Given the description of an element on the screen output the (x, y) to click on. 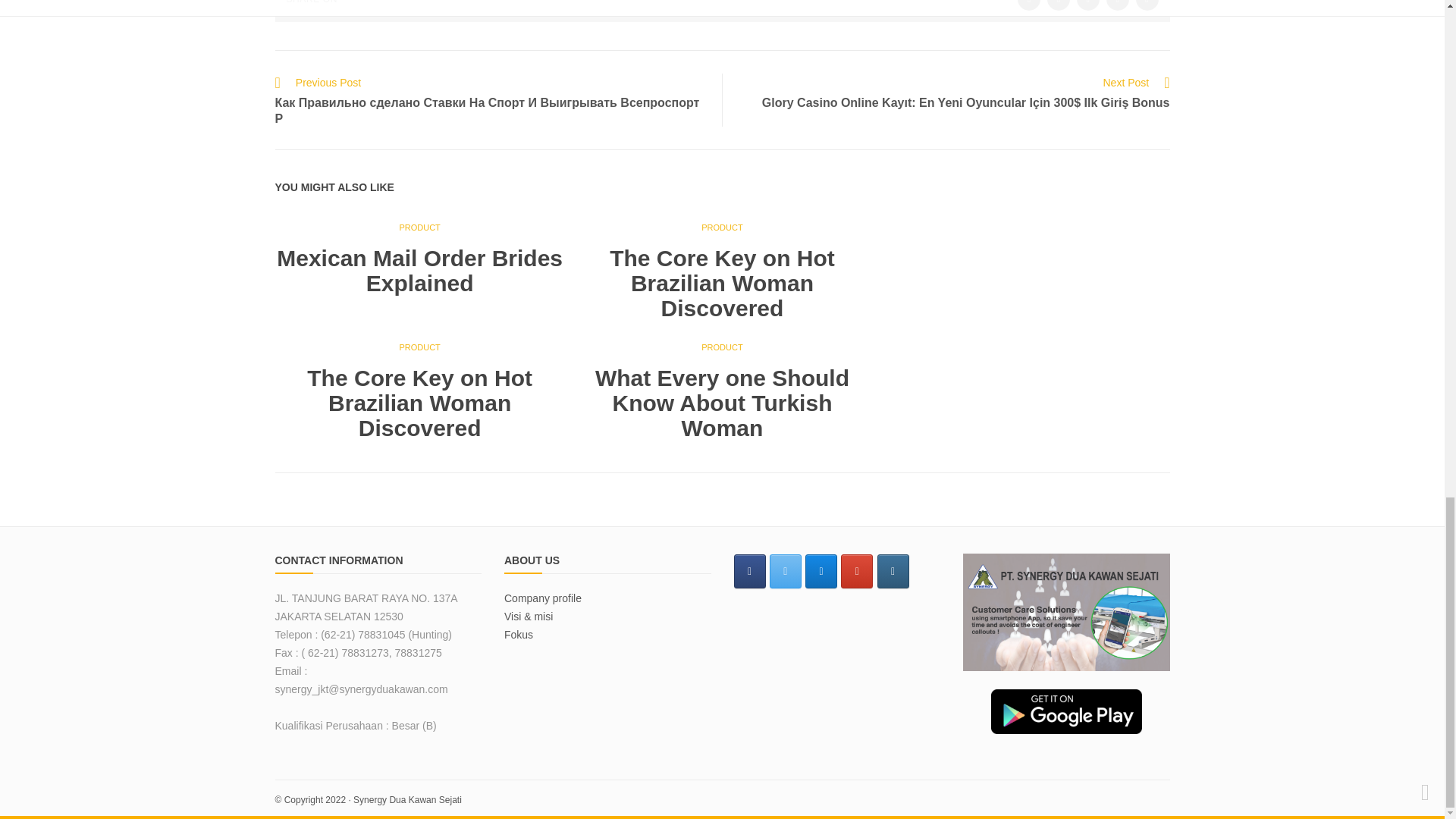
Synergy Dua Kawan Sejati on Instagram (892, 571)
Twitter (1029, 5)
Synergy Dua Kawan Sejati on Twitter (786, 571)
Facebook (1058, 5)
Synergy Dua Kawan Sejati on Google Plus (856, 571)
Synergy Dua Kawan Sejati on Dropbox (821, 571)
Synergy Dua Kawan Sejati on Facebook (749, 571)
Pinterest (1146, 5)
LinkedIn (1117, 5)
